Given the description of an element on the screen output the (x, y) to click on. 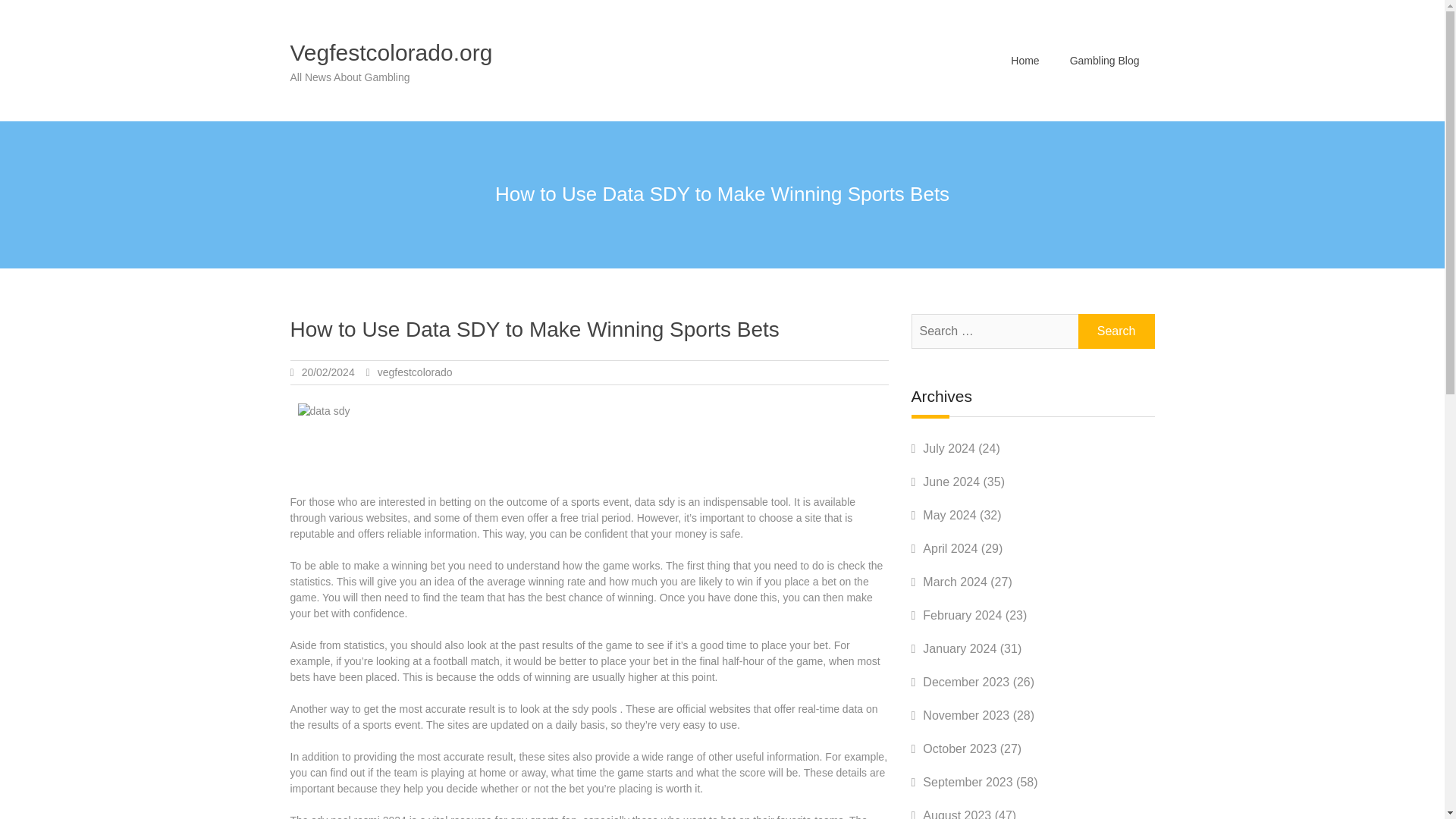
June 2024 (951, 481)
March 2024 (955, 581)
December 2023 (966, 681)
October 2023 (959, 748)
Search (1116, 330)
November 2023 (966, 715)
Gambling Blog (1104, 59)
February 2024 (962, 615)
Search (1116, 330)
Search (1116, 330)
vegfestcolorado (414, 372)
April 2024 (949, 548)
January 2024 (959, 648)
July 2024 (949, 448)
September 2023 (967, 781)
